Given the description of an element on the screen output the (x, y) to click on. 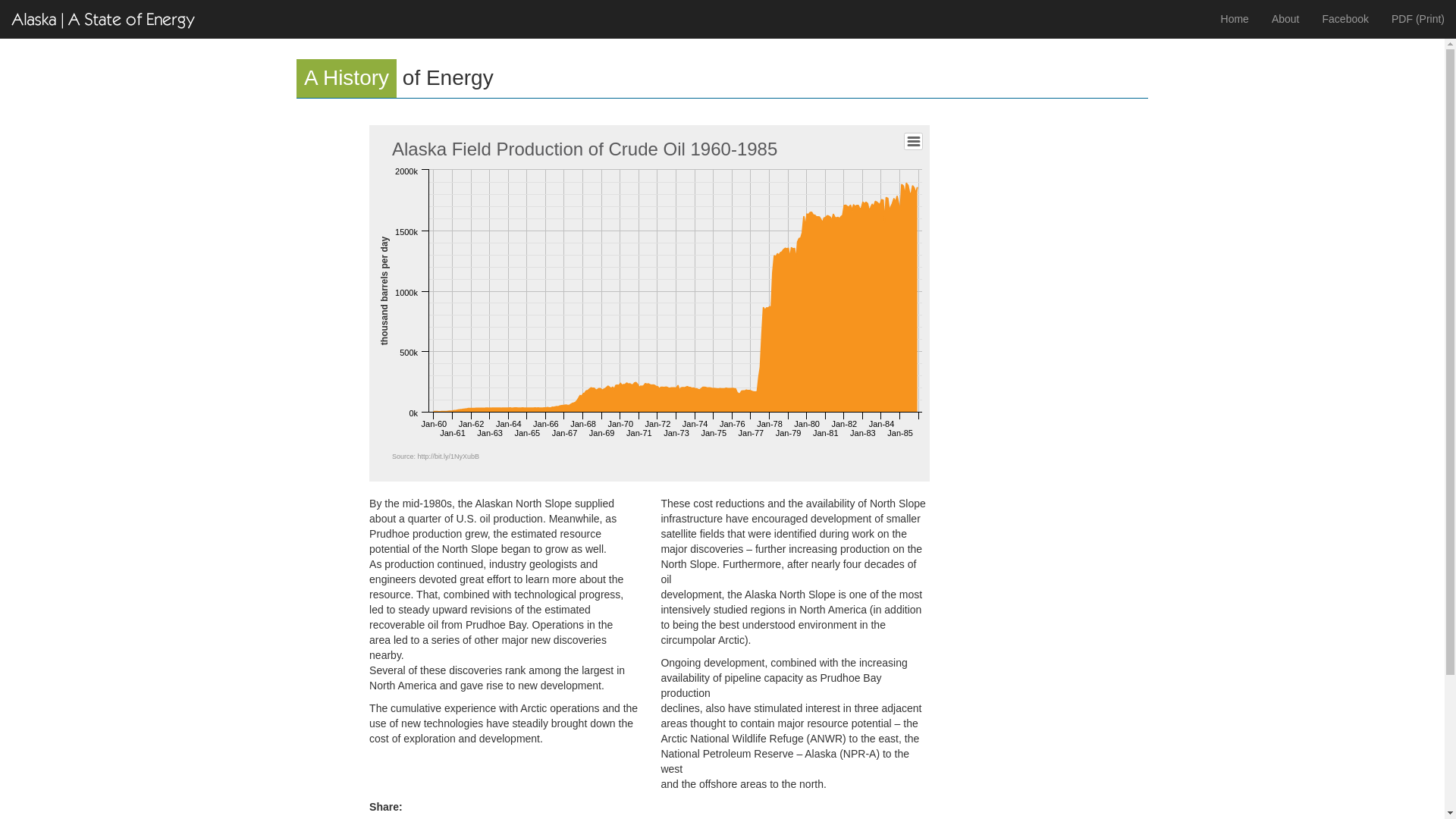
Facebook (1345, 18)
Home (1234, 18)
About (1285, 18)
